Given the description of an element on the screen output the (x, y) to click on. 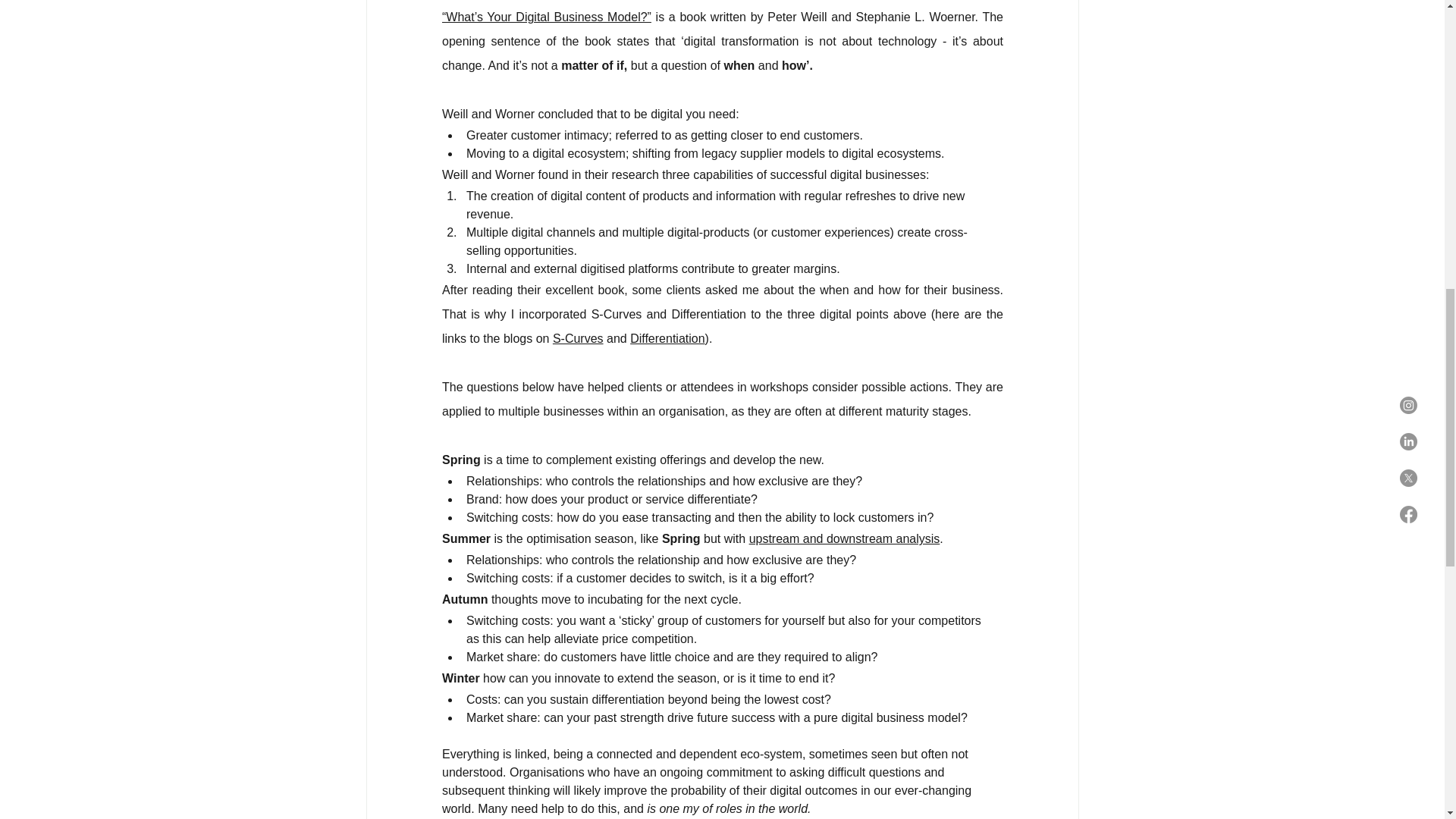
Differentiation (667, 338)
S-Curves (576, 338)
